Given the description of an element on the screen output the (x, y) to click on. 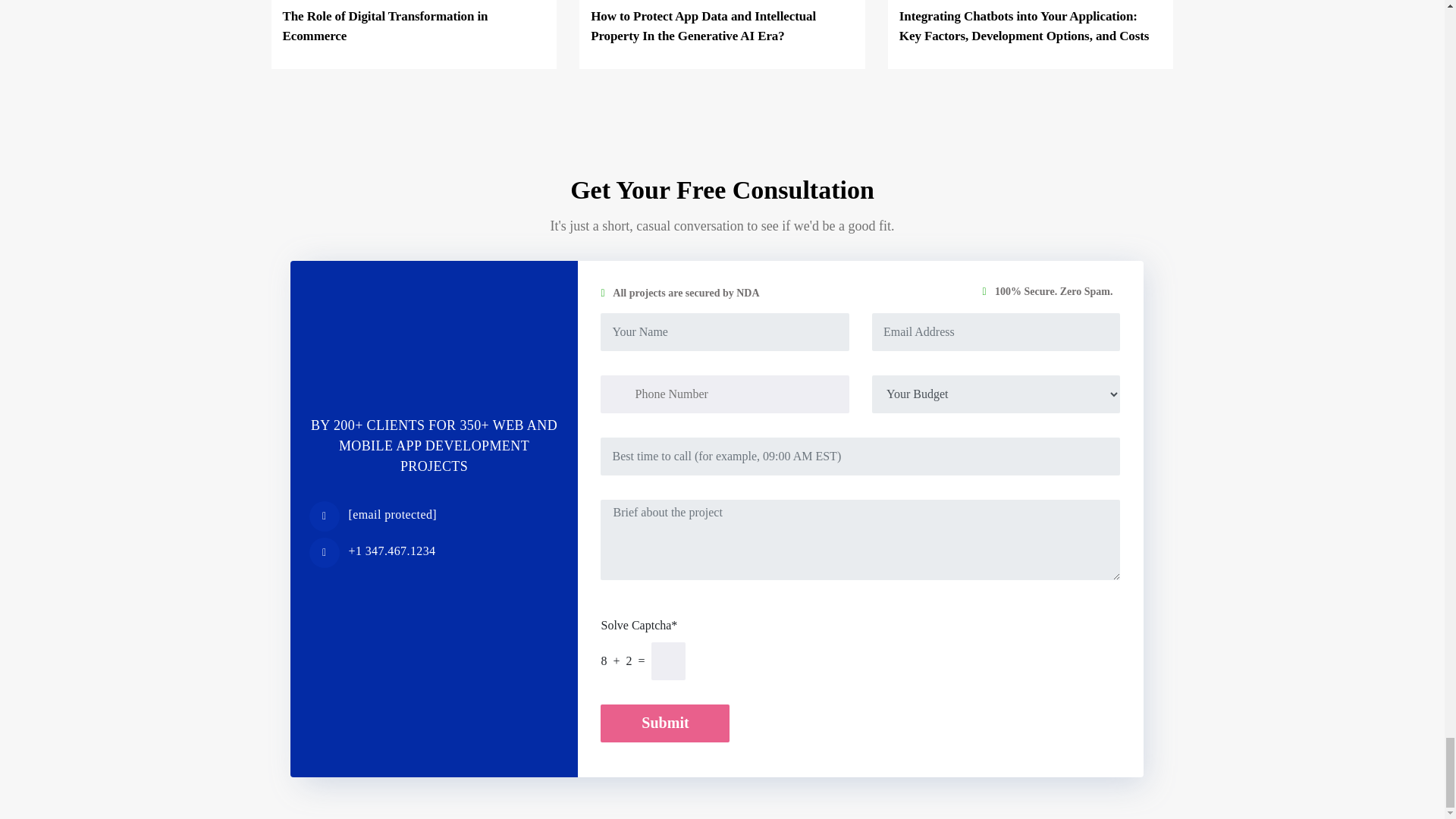
Submit (664, 723)
Good Firms Research (433, 340)
